Given the description of an element on the screen output the (x, y) to click on. 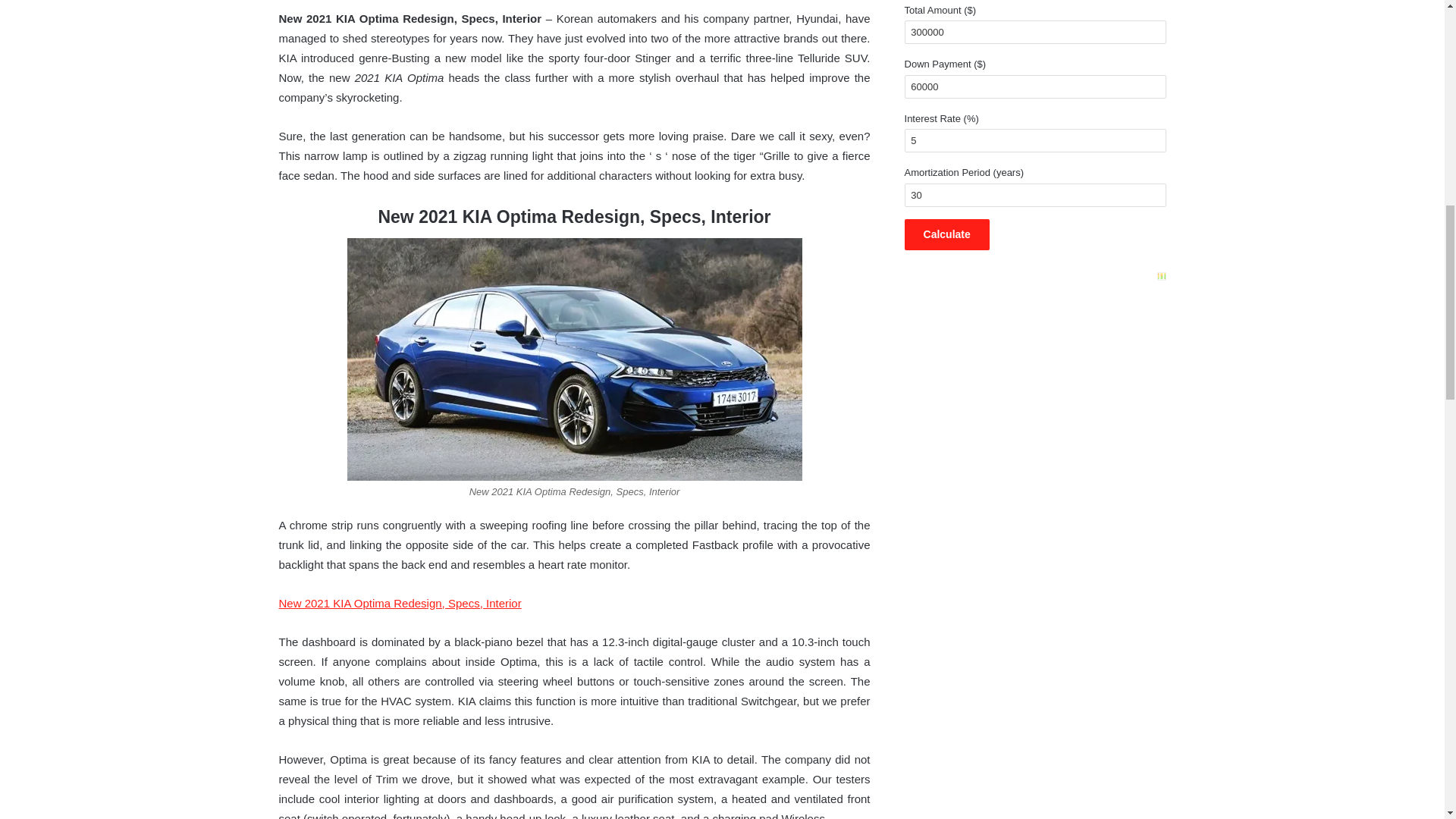
30 (1035, 195)
Calculate (947, 234)
5 (1035, 140)
New 2021 KIA Optima Redesign, Specs, Interior (400, 603)
60000 (1035, 86)
300000 (1035, 32)
